Given the description of an element on the screen output the (x, y) to click on. 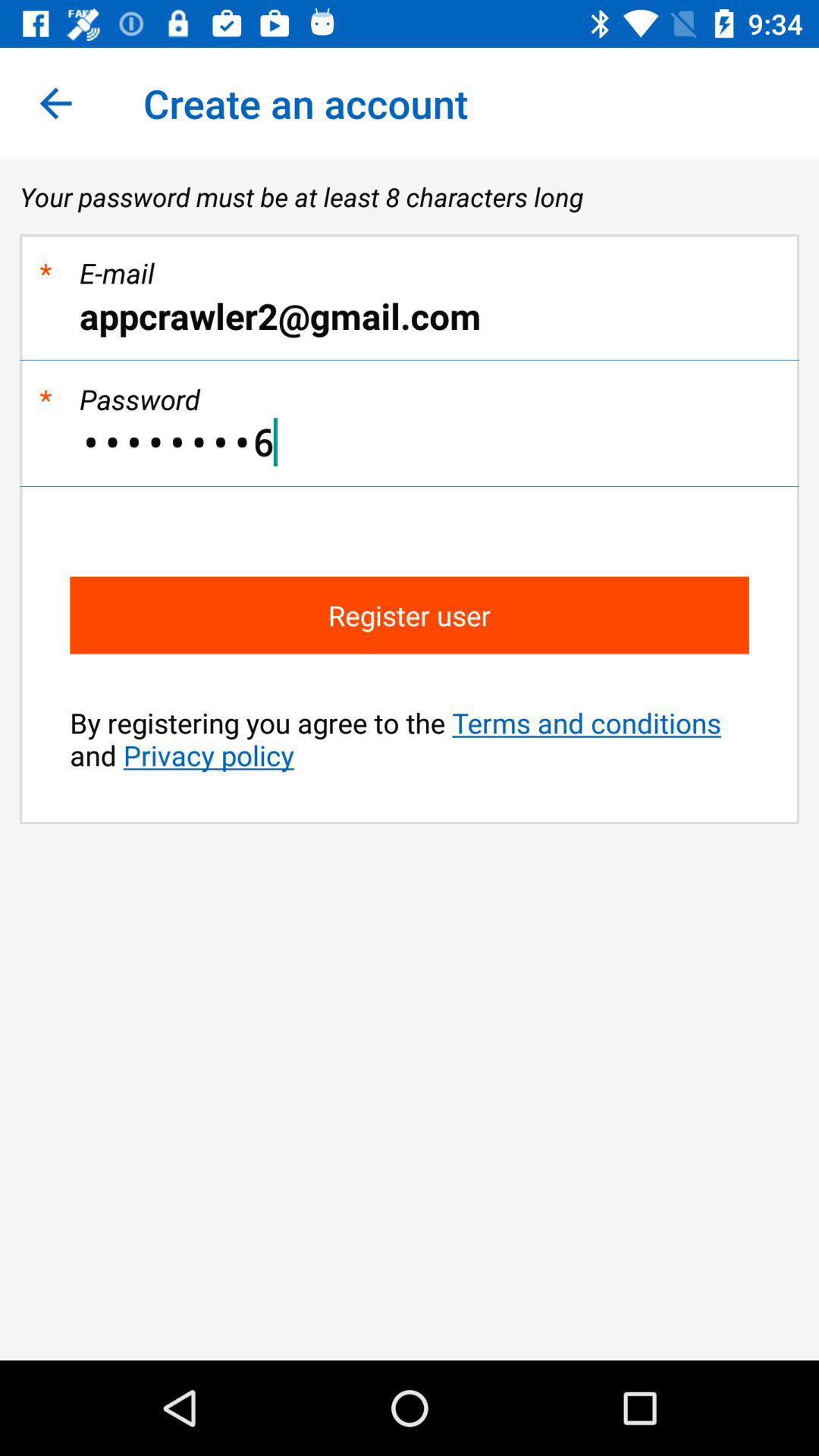
choose item below the * icon (409, 442)
